Given the description of an element on the screen output the (x, y) to click on. 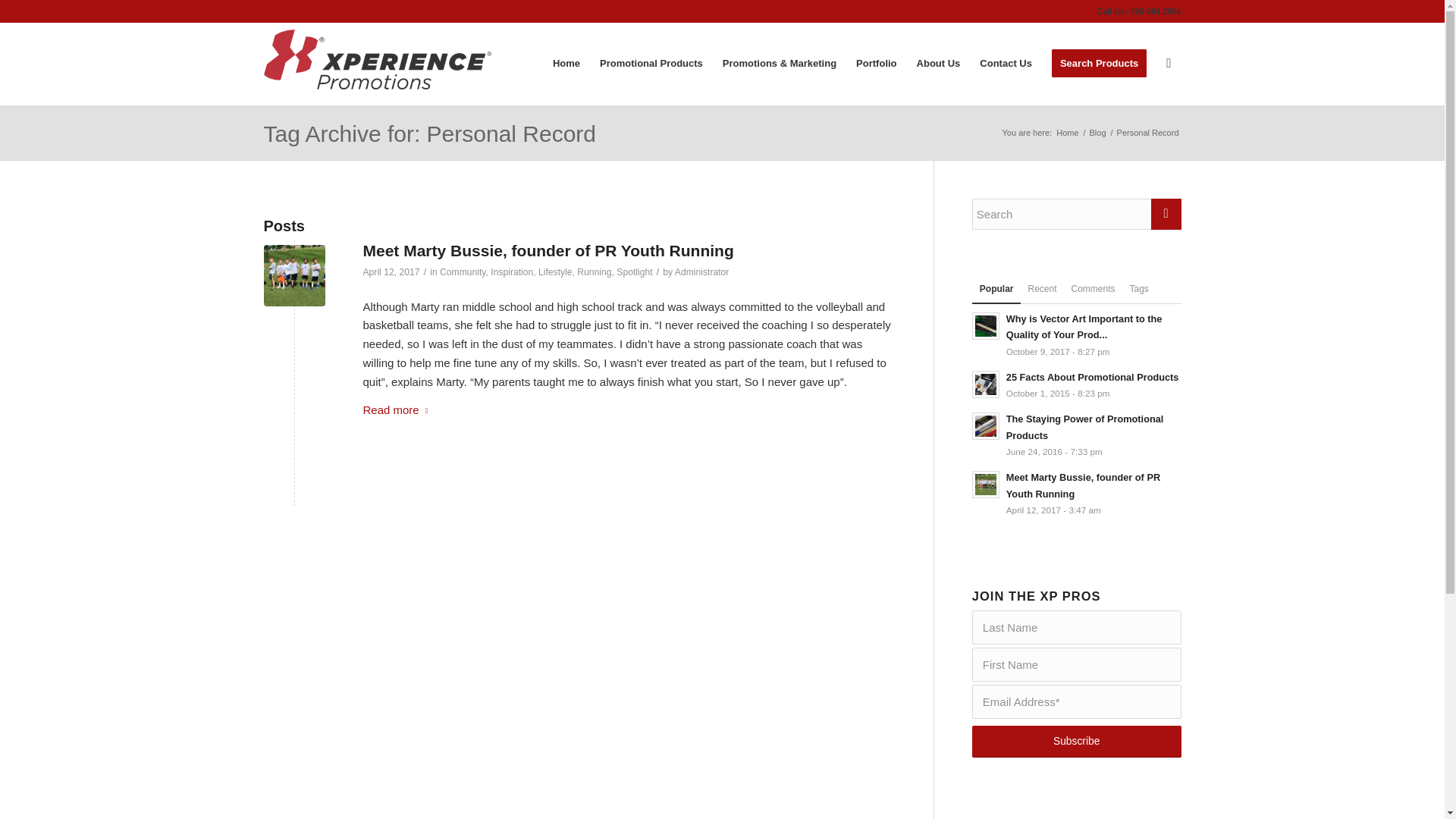
Read: Meet Marty Bussie, founder of PR Youth Running (985, 483)
Read more (397, 410)
Running (593, 271)
Read: Meet Marty Bussie, founder of PR Youth Running (1083, 485)
Meet Marty Bussie, founder of PR Youth Running (1083, 485)
Why is Vector Art Important to the Quality of Your Prod... (1083, 326)
Subscribe (1076, 741)
About Us (939, 63)
Spotlight (633, 271)
Read: The Staying Power of Promotional Products (1084, 427)
Permanent Link: Tag Archive for: Personal Record (429, 133)
Administrator (702, 271)
Pose (293, 275)
